Given the description of an element on the screen output the (x, y) to click on. 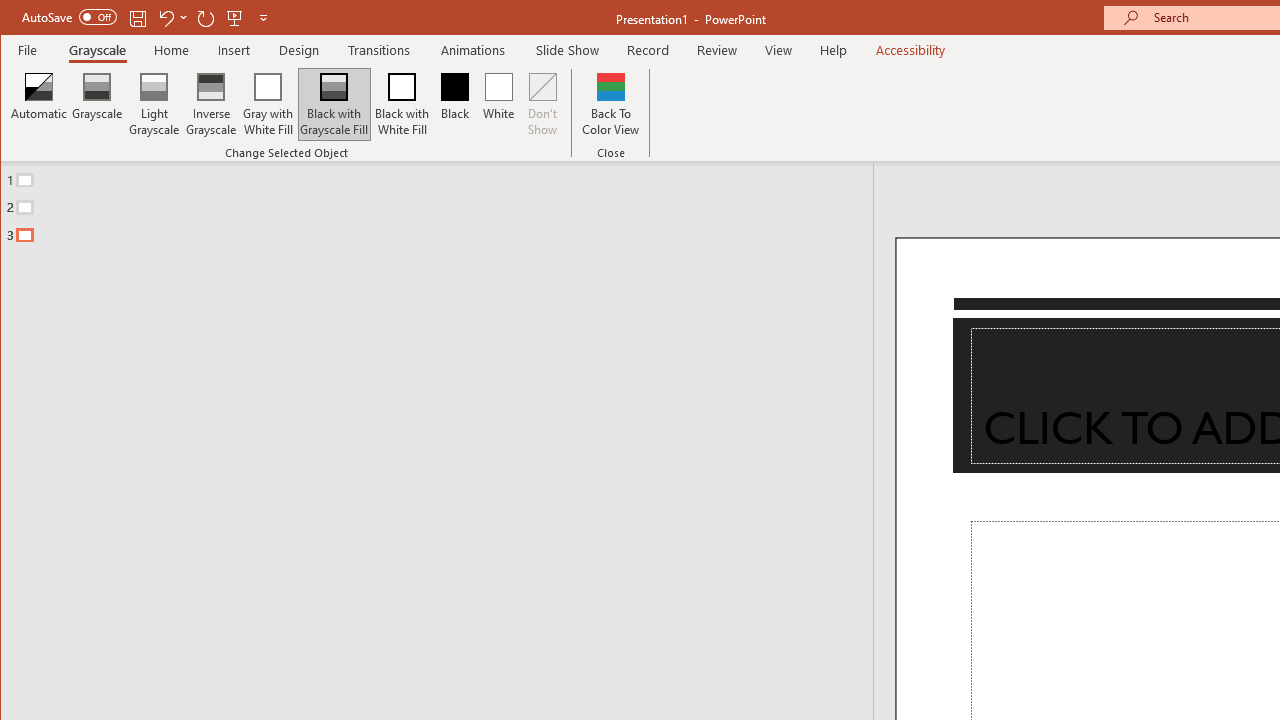
Grayscale (97, 104)
Light Grayscale (153, 104)
